Given the description of an element on the screen output the (x, y) to click on. 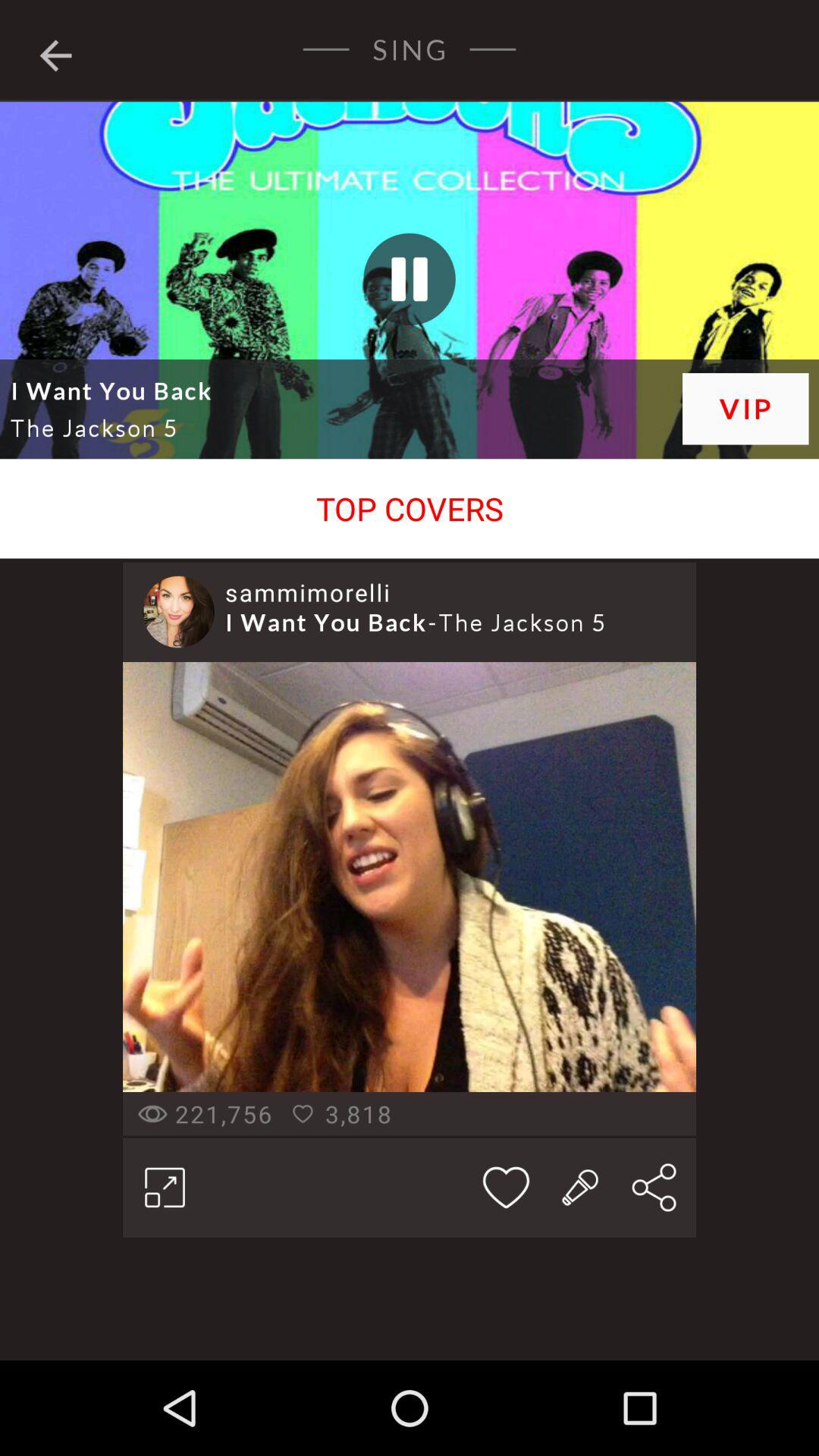
turn off item next to i want you (745, 408)
